Given the description of an element on the screen output the (x, y) to click on. 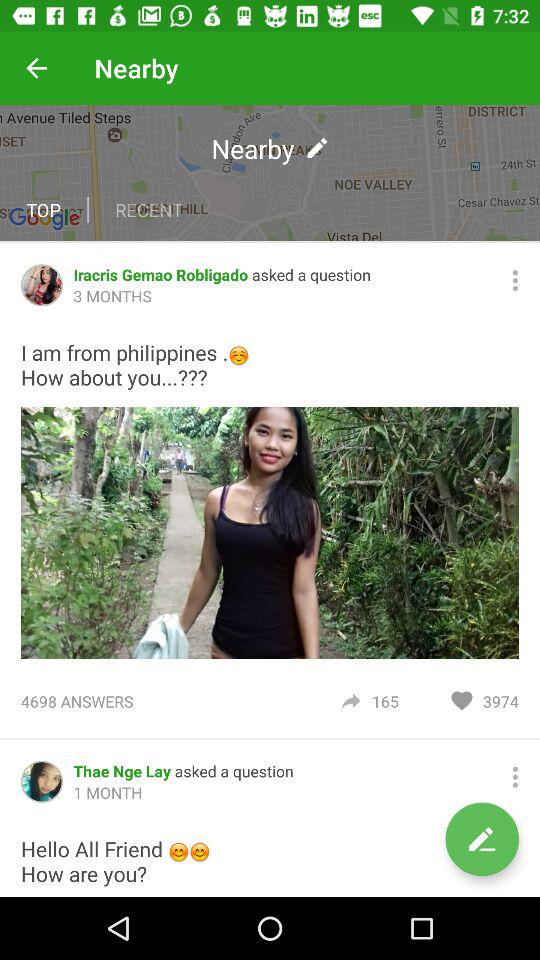
press the item next to hello all friend item (482, 839)
